Given the description of an element on the screen output the (x, y) to click on. 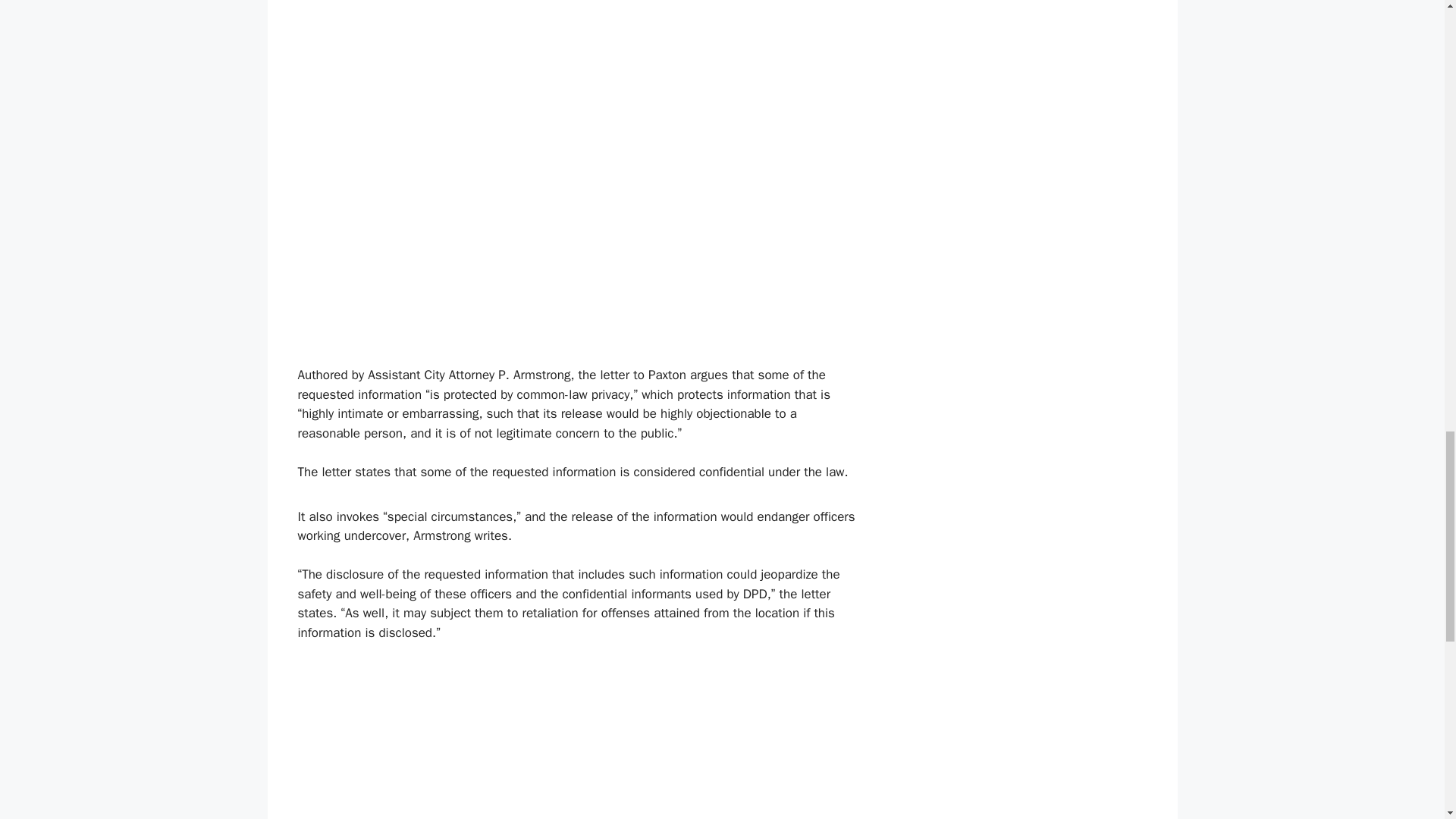
Advertisement (578, 760)
Advertisement (424, 233)
